Given the description of an element on the screen output the (x, y) to click on. 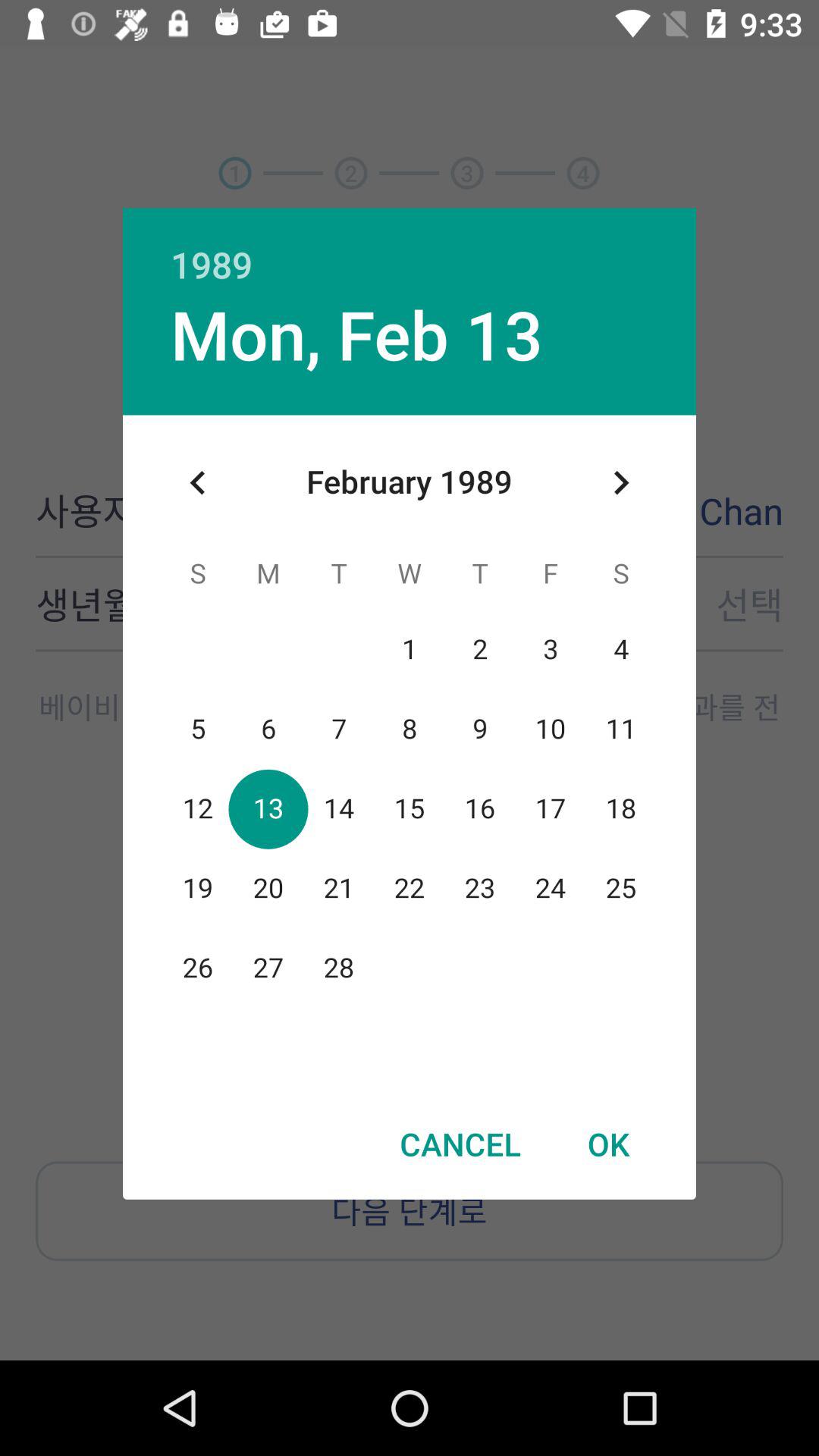
choose the item to the left of the ok icon (459, 1143)
